Given the description of an element on the screen output the (x, y) to click on. 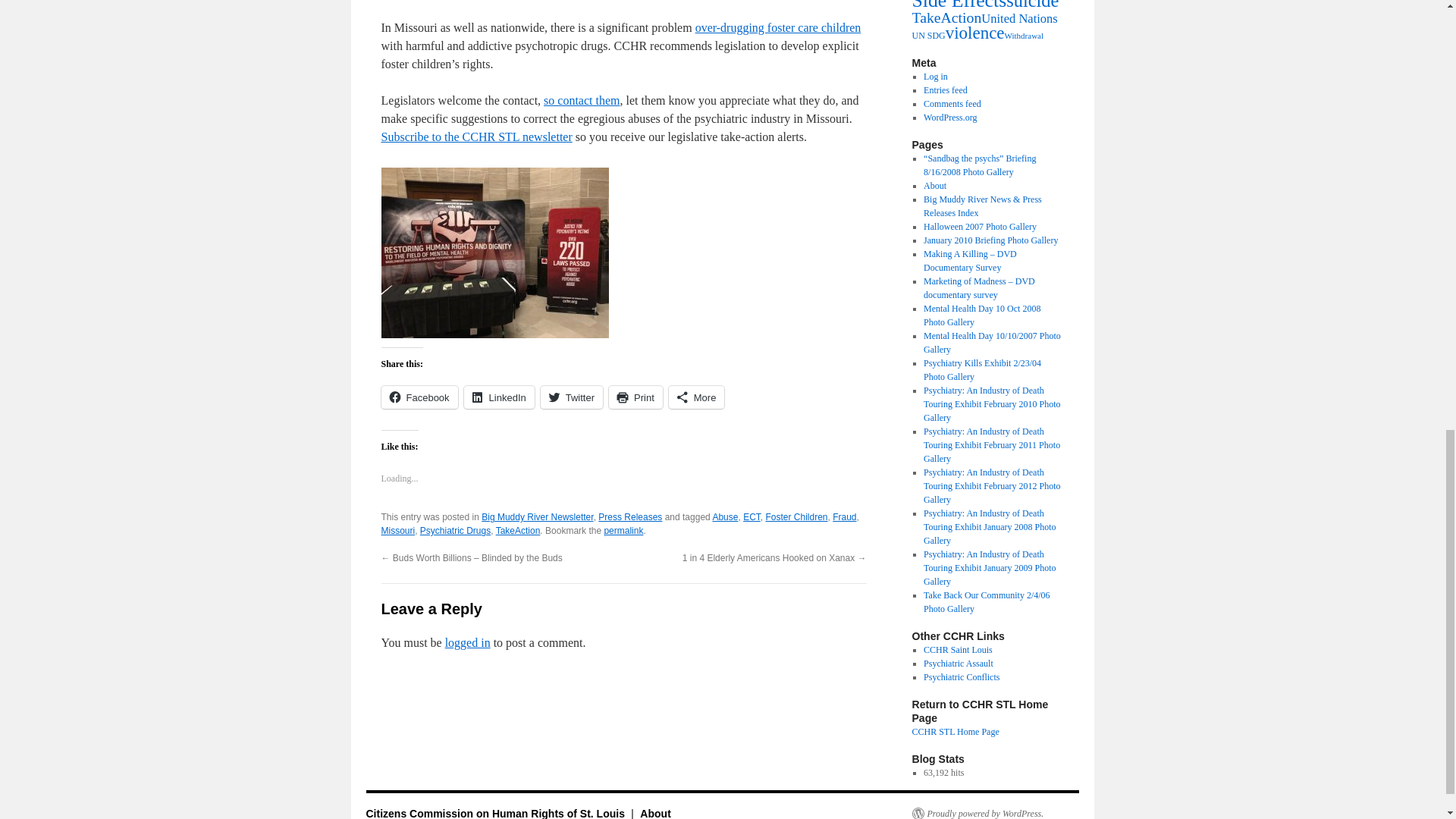
permalink (623, 530)
logged in (467, 642)
so contact them (581, 100)
Foster Children (796, 516)
TakeAction (518, 530)
Click to share on Twitter (571, 396)
Psychiatric Drugs (455, 530)
Big Muddy River Newsletter (536, 516)
CCHR Saint Louis (957, 649)
Subscribe to the CCHR STL newsletter (476, 136)
